Given the description of an element on the screen output the (x, y) to click on. 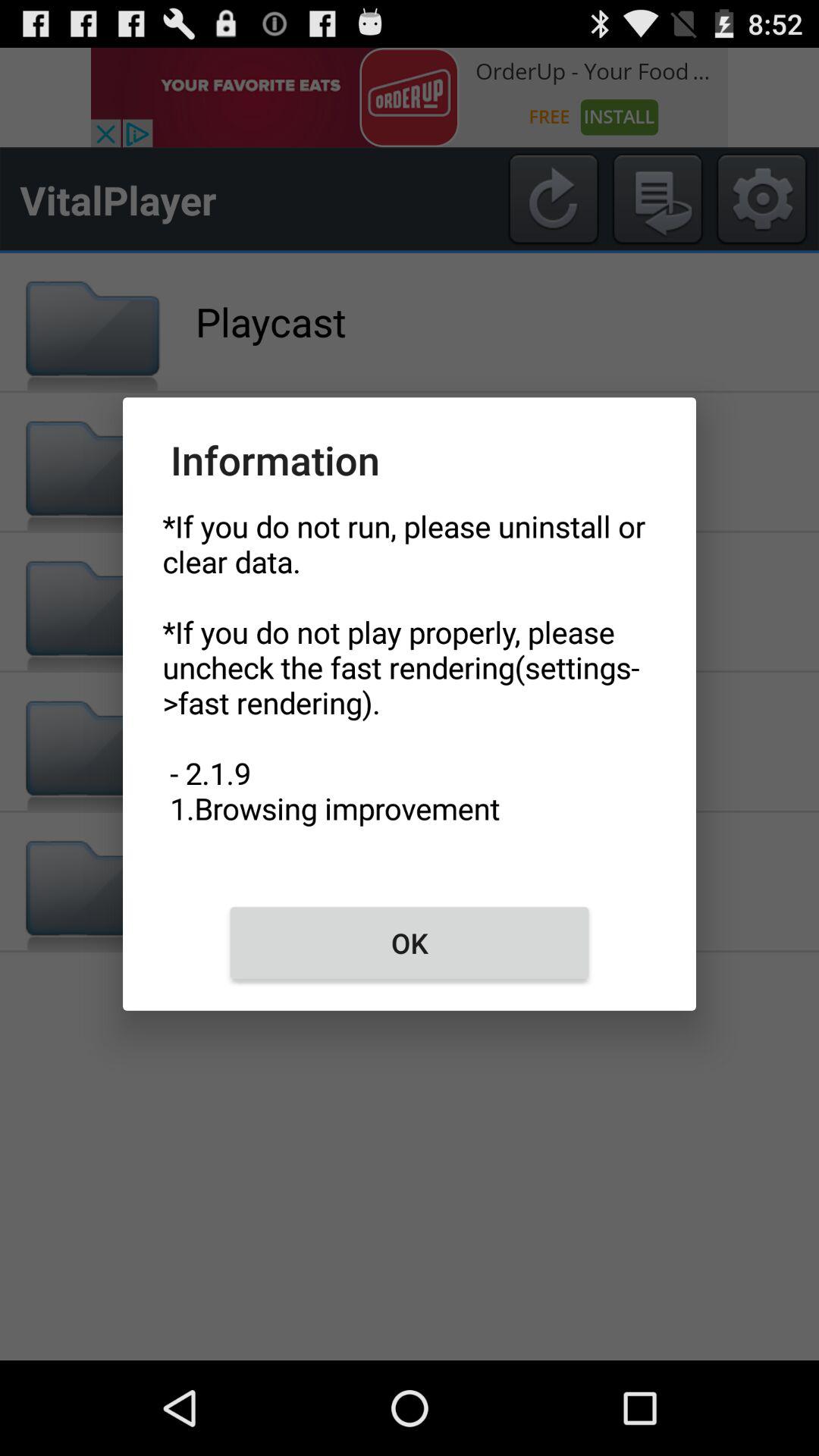
scroll to ok icon (409, 942)
